Given the description of an element on the screen output the (x, y) to click on. 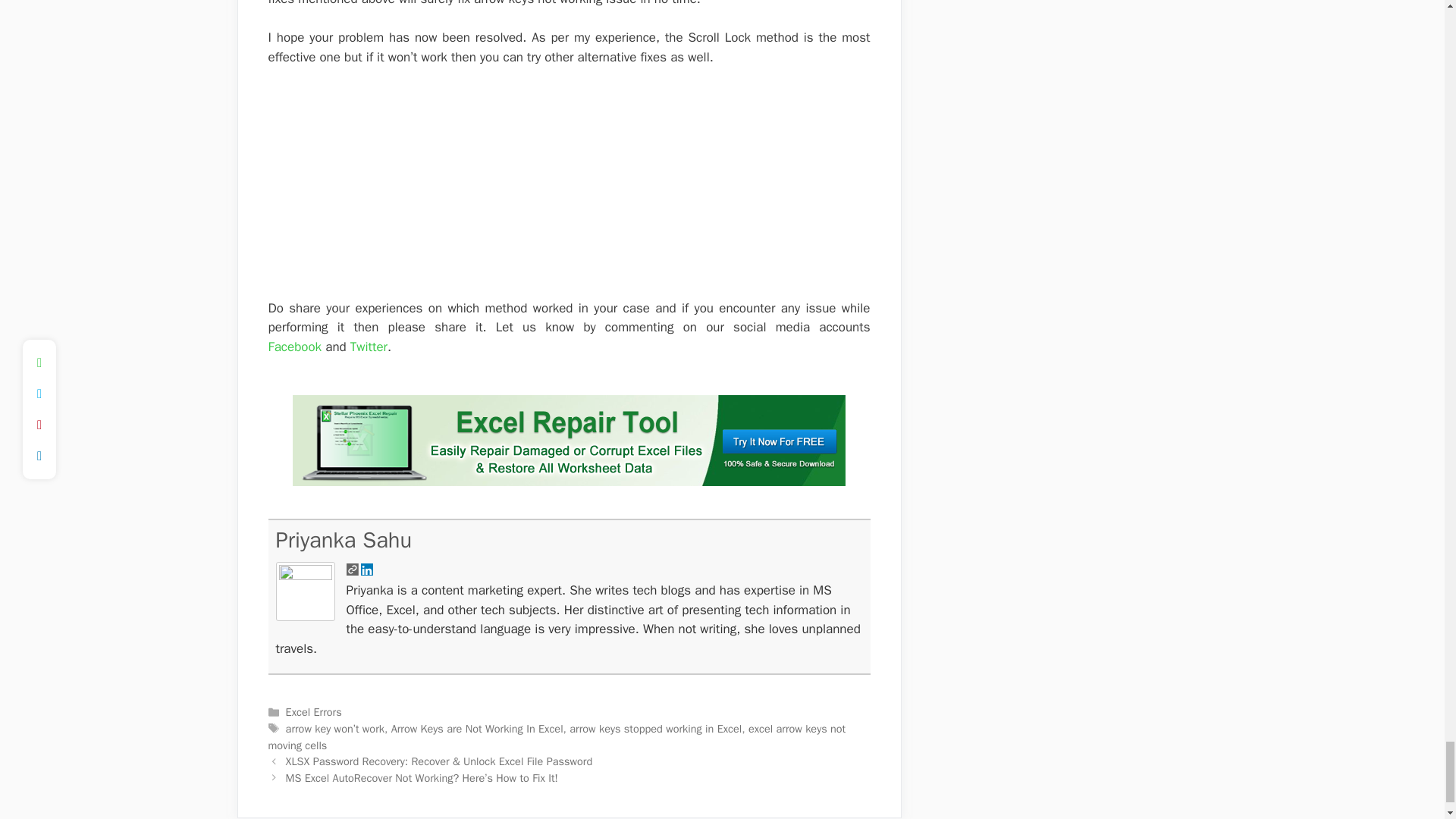
Excel Errors (313, 712)
Try Excel Repair Now (568, 481)
All posts by Priyanka Sahu (344, 540)
Priyanka Sahu (344, 540)
Facebook (294, 346)
Twitter (368, 346)
